Given the description of an element on the screen output the (x, y) to click on. 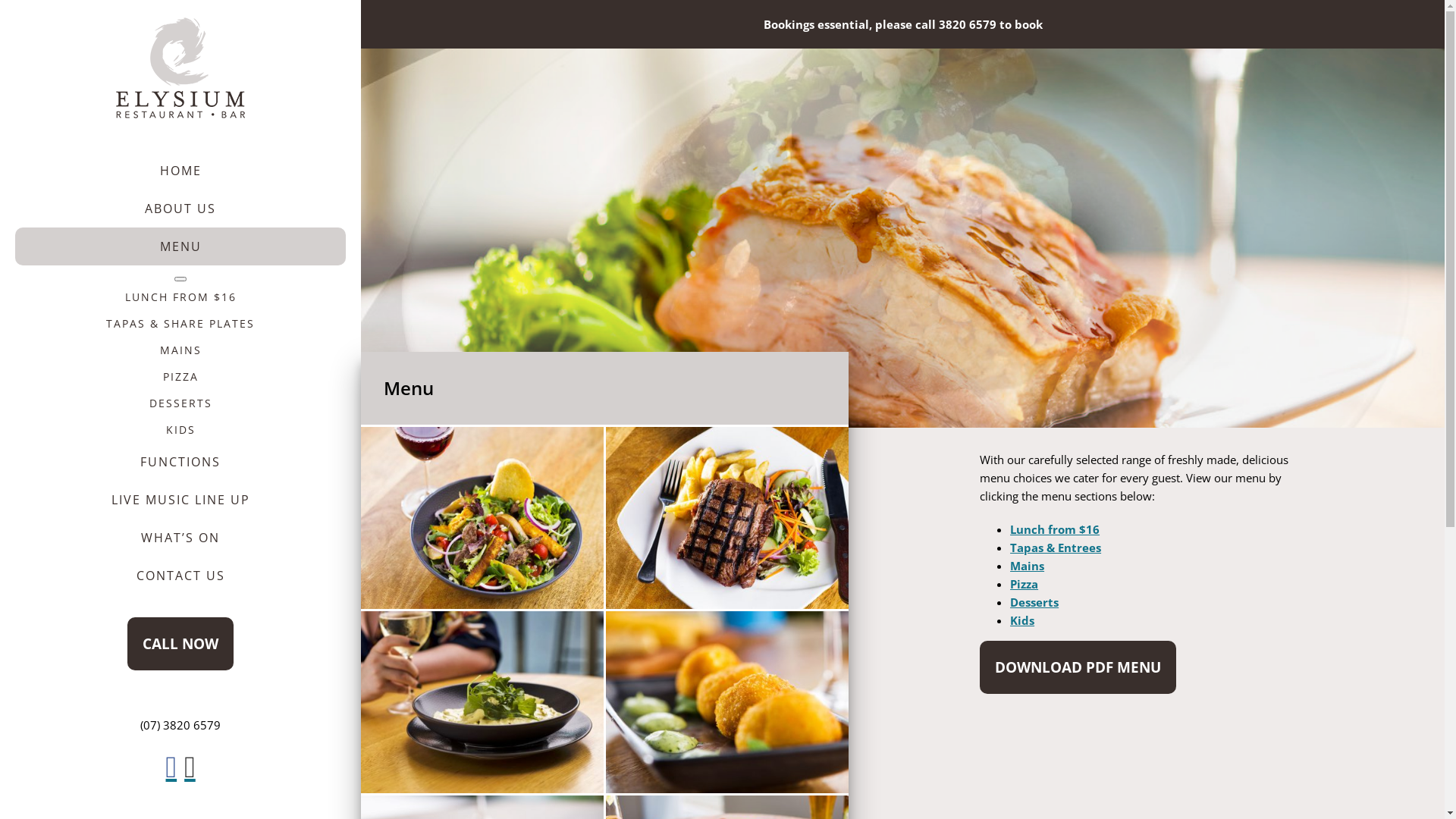
KIDS Element type: text (180, 429)
PIZZA Element type: text (180, 376)
Pizza Element type: text (1024, 583)
CONTACT US Element type: text (180, 575)
TAPAS & SHARE PLATES Element type: text (180, 323)
Kids Element type: text (1022, 619)
DESSERTS Element type: text (180, 402)
DOWNLOAD PDF MENU Element type: text (1077, 666)
LUNCH FROM $16 Element type: text (180, 296)
CALL NOW Element type: text (180, 643)
FUNCTIONS Element type: text (180, 461)
ABOUT US Element type: text (180, 208)
Desserts Element type: text (1034, 601)
Lunch from $16 Element type: text (1054, 528)
HOME Element type: text (180, 170)
LIVE MUSIC LINE UP Element type: text (180, 499)
MENU Element type: text (180, 246)
MAINS Element type: text (180, 349)
Tapas & Entrees Element type: text (1055, 547)
Mains Element type: text (1027, 565)
